Given the description of an element on the screen output the (x, y) to click on. 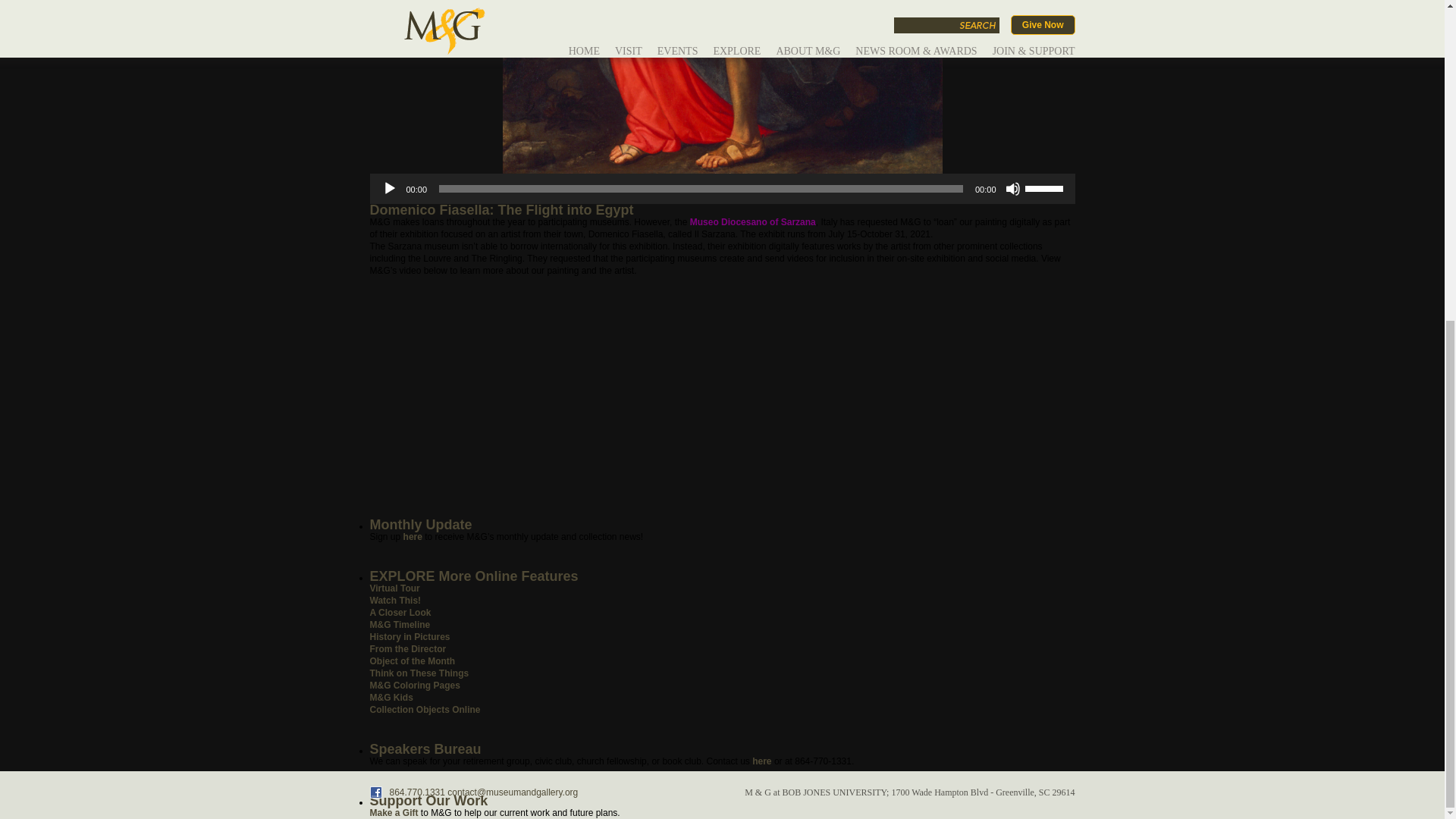
YouTube video player (581, 395)
Play (389, 188)
Mute (1013, 188)
Permanent Link to Domenico Fiasella: The Flight into Egypt (501, 209)
